Given the description of an element on the screen output the (x, y) to click on. 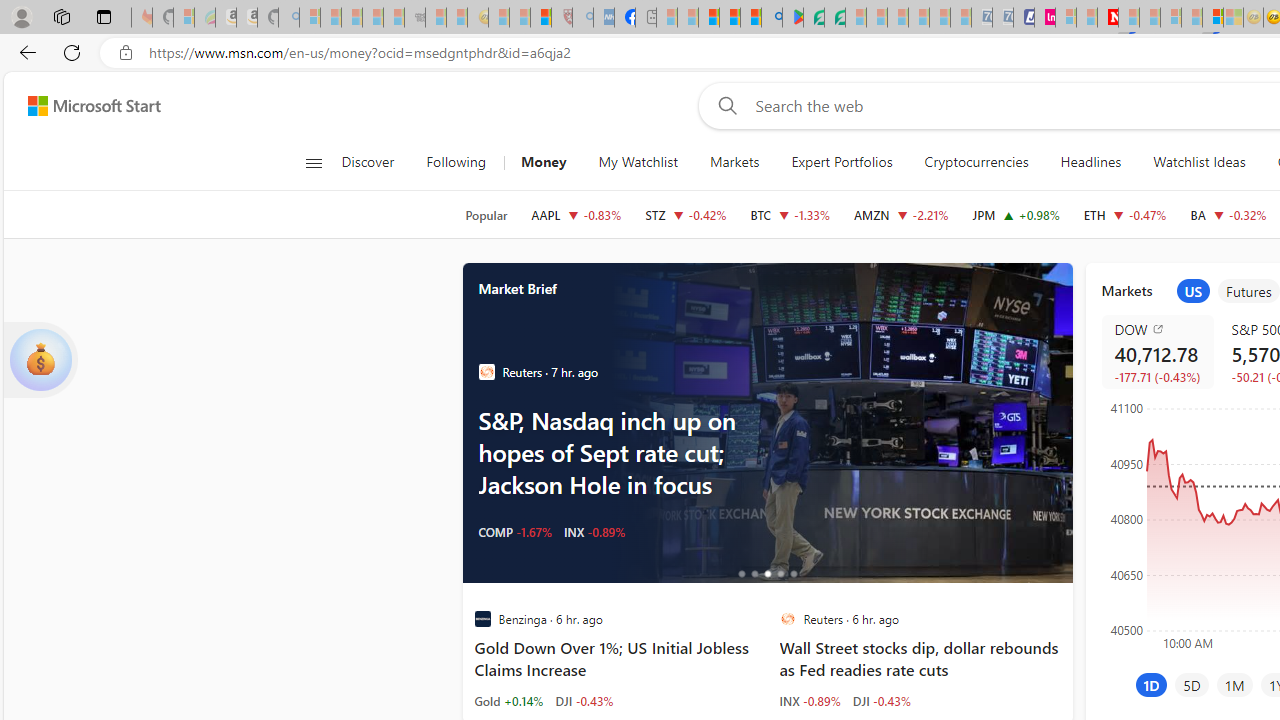
STZ CONSTELLATION BRANDS, INC. decrease 243.70 -1.04 -0.42% (685, 214)
Latest Politics News & Archive | Newsweek.com (1107, 17)
DOW DJI decrease 40,712.78 -177.71 -0.43% (1156, 351)
INX -0.89% (809, 700)
Jobs - lastminute.com Investor Portal (1044, 17)
AMZN AMAZON.COM, INC. decrease 176.13 -3.98 -2.21% (901, 214)
